Given the description of an element on the screen output the (x, y) to click on. 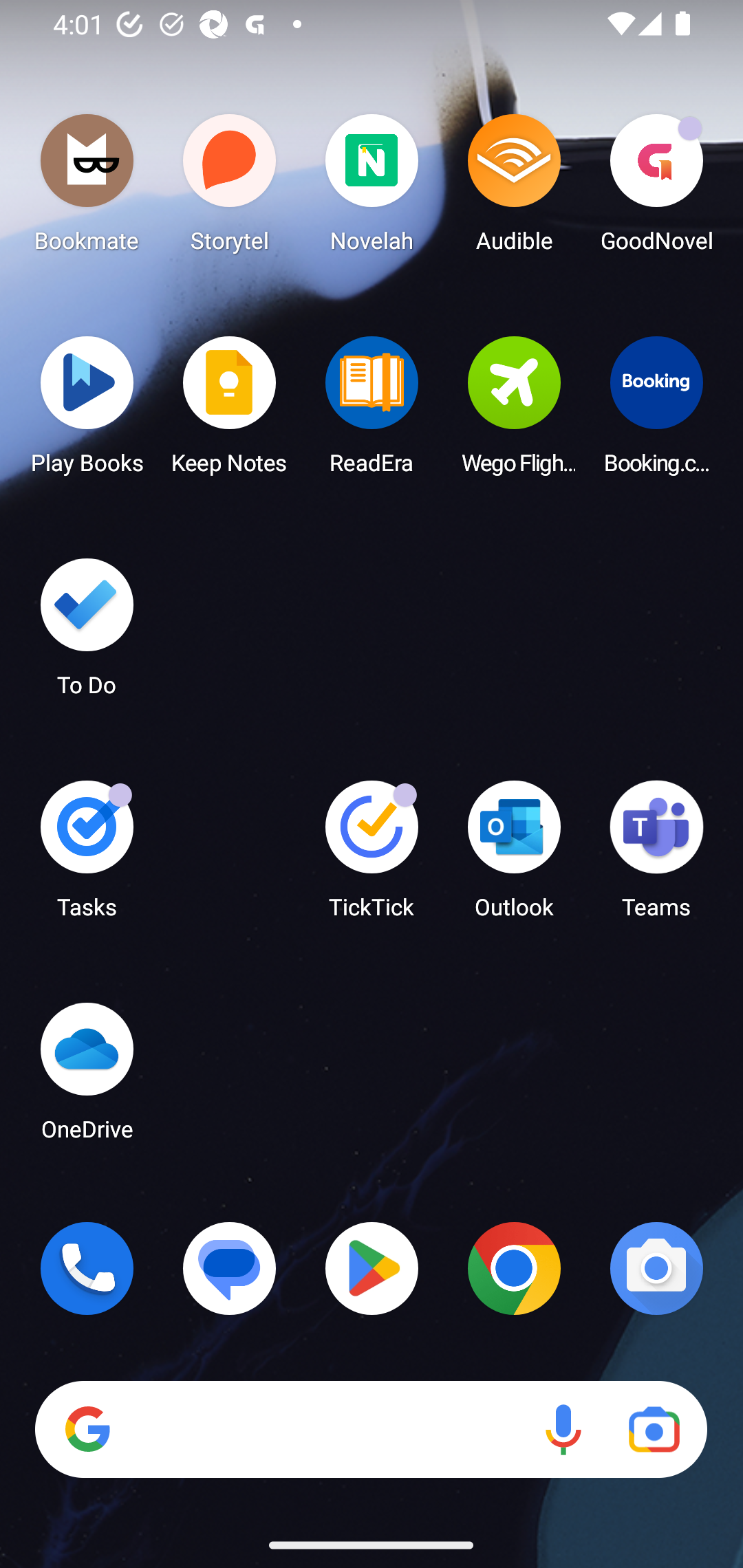
Bookmate (86, 188)
Storytel (229, 188)
Novelah (371, 188)
Audible (513, 188)
GoodNovel GoodNovel has 1 notification (656, 188)
Play Books (86, 410)
Keep Notes (229, 410)
ReadEra (371, 410)
Wego Flights & Hotels (513, 410)
Booking.com (656, 410)
To Do (86, 633)
Tasks Tasks has 1 notification (86, 854)
TickTick TickTick has 3 notifications (371, 854)
Outlook (513, 854)
Teams (656, 854)
OneDrive (86, 1076)
Phone (86, 1268)
Messages (229, 1268)
Play Store (371, 1268)
Chrome (513, 1268)
Camera (656, 1268)
Search Voice search Google Lens (370, 1429)
Voice search (562, 1429)
Google Lens (653, 1429)
